Given the description of an element on the screen output the (x, y) to click on. 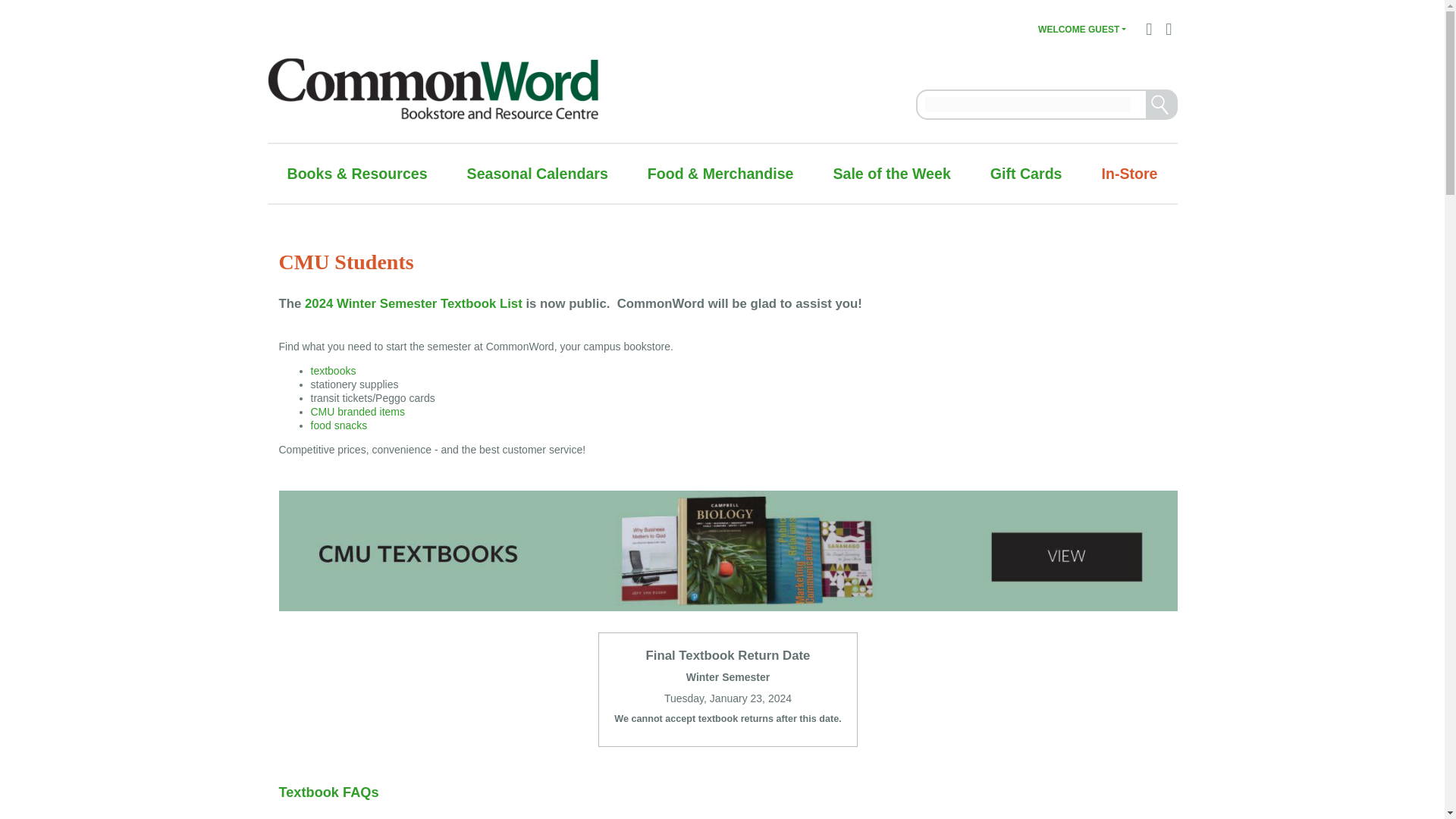
WELCOME GUEST (1080, 29)
